Given the description of an element on the screen output the (x, y) to click on. 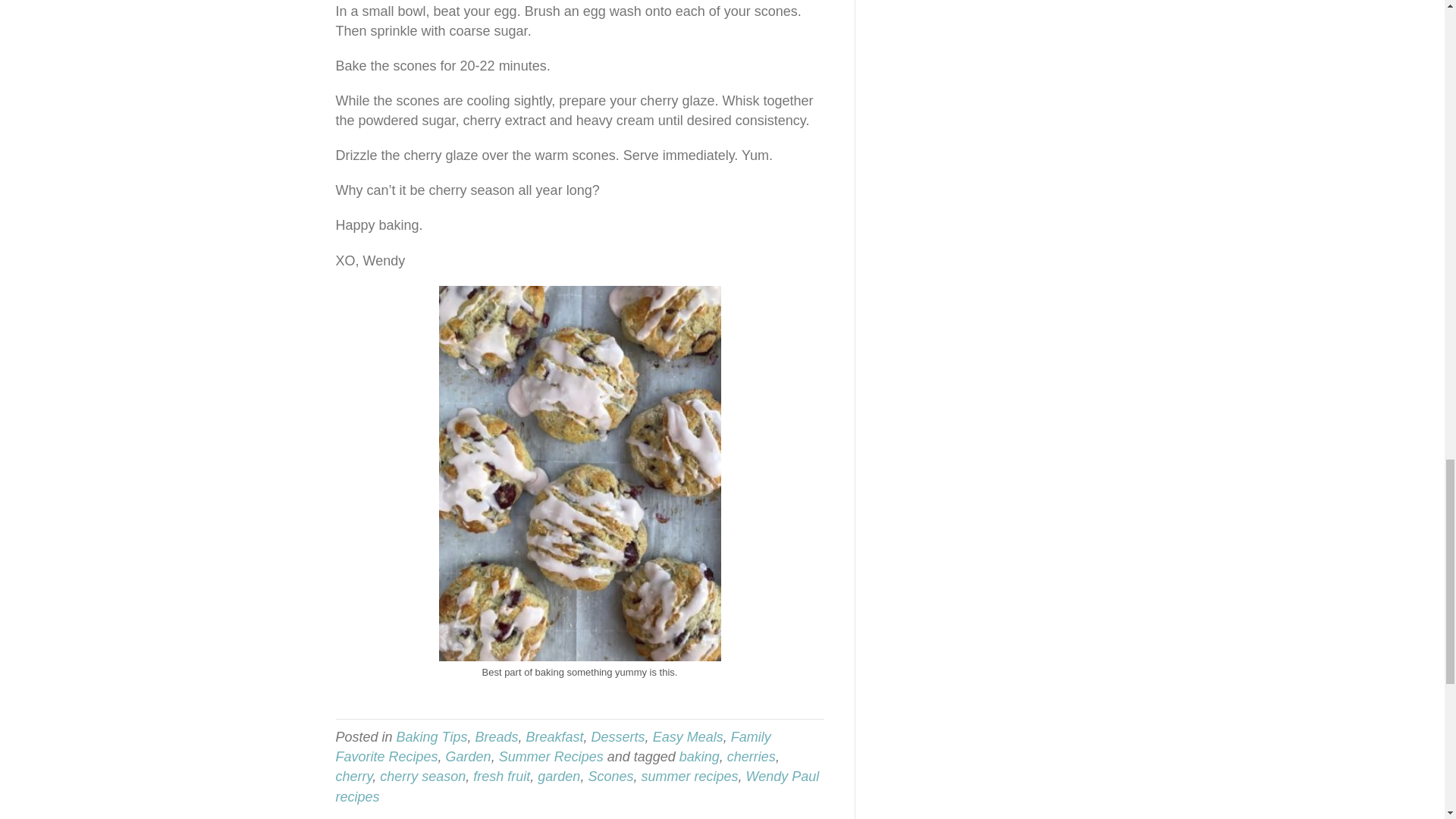
baking (699, 756)
Garden (468, 756)
Baking Tips (431, 736)
cherries (751, 756)
Breads (496, 736)
Summer Recipes (551, 756)
Family Favorite Recipes (552, 746)
cherry (353, 776)
Breakfast (554, 736)
Desserts (618, 736)
Easy Meals (687, 736)
